Given the description of an element on the screen output the (x, y) to click on. 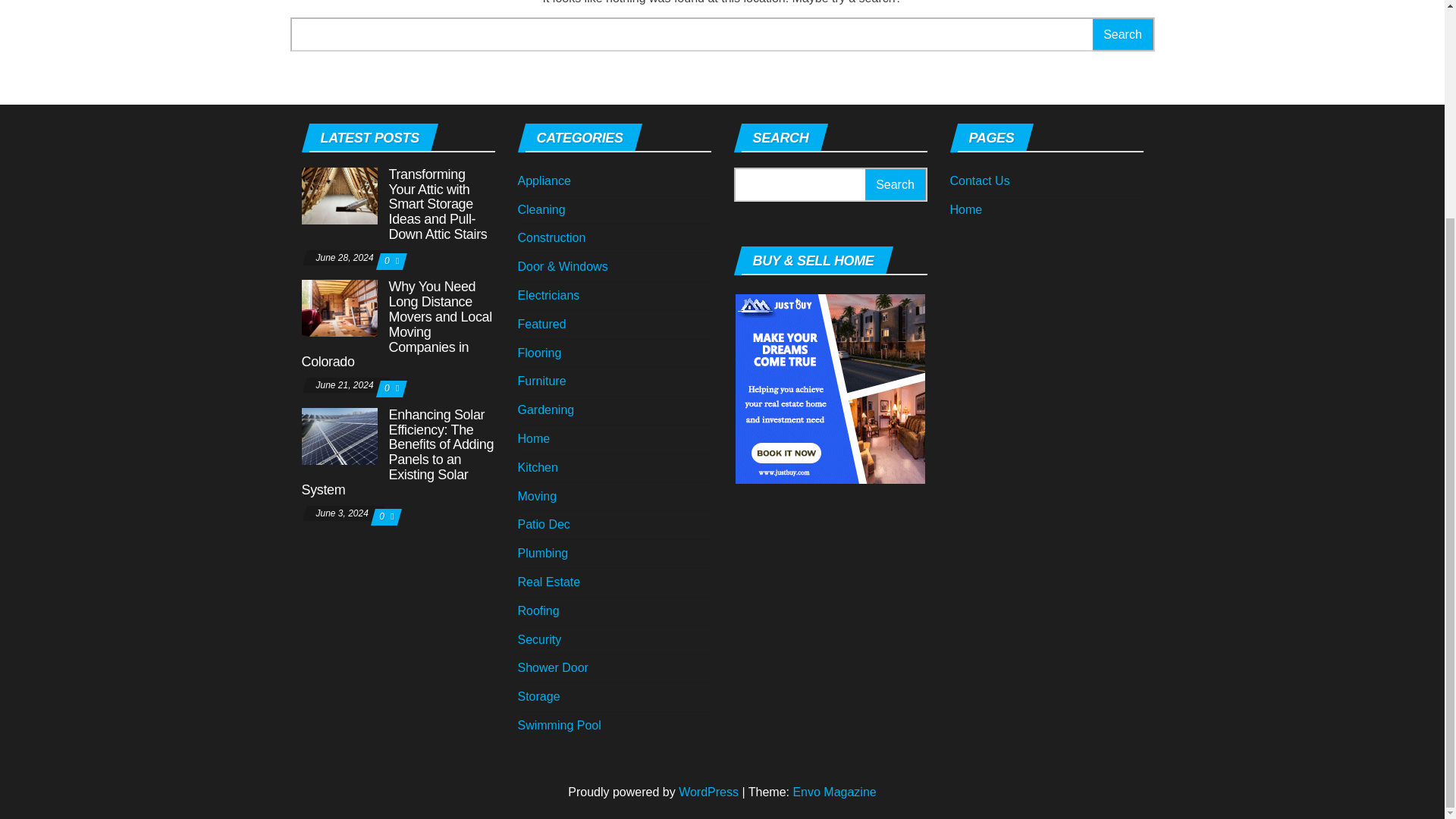
Construction (550, 237)
Featured (541, 323)
Search (1122, 33)
Furniture (541, 380)
Search (894, 183)
